Given the description of an element on the screen output the (x, y) to click on. 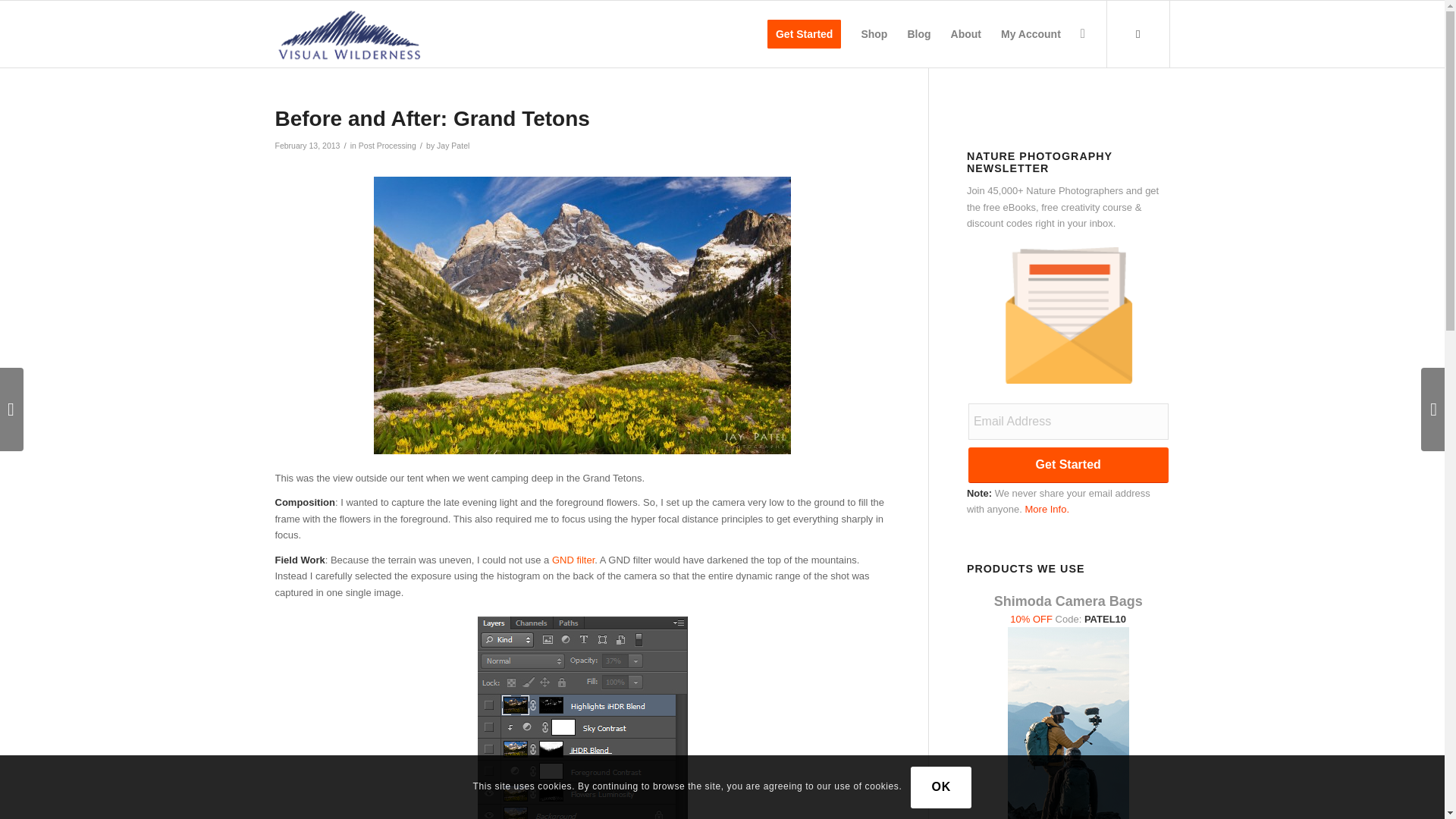
Post Processing (387, 144)
GND filter (572, 559)
It is about Fieldwork...Not just processing skills (299, 559)
Tetons Workflow - Layers (582, 714)
Composition Tips (304, 501)
Get Started (803, 33)
Field Work (299, 559)
Jay Patel (452, 144)
My Account (1030, 33)
Get Started (1068, 465)
Accept and Continue (941, 787)
Posts by Jay Patel (452, 144)
Composition (304, 501)
